Given the description of an element on the screen output the (x, y) to click on. 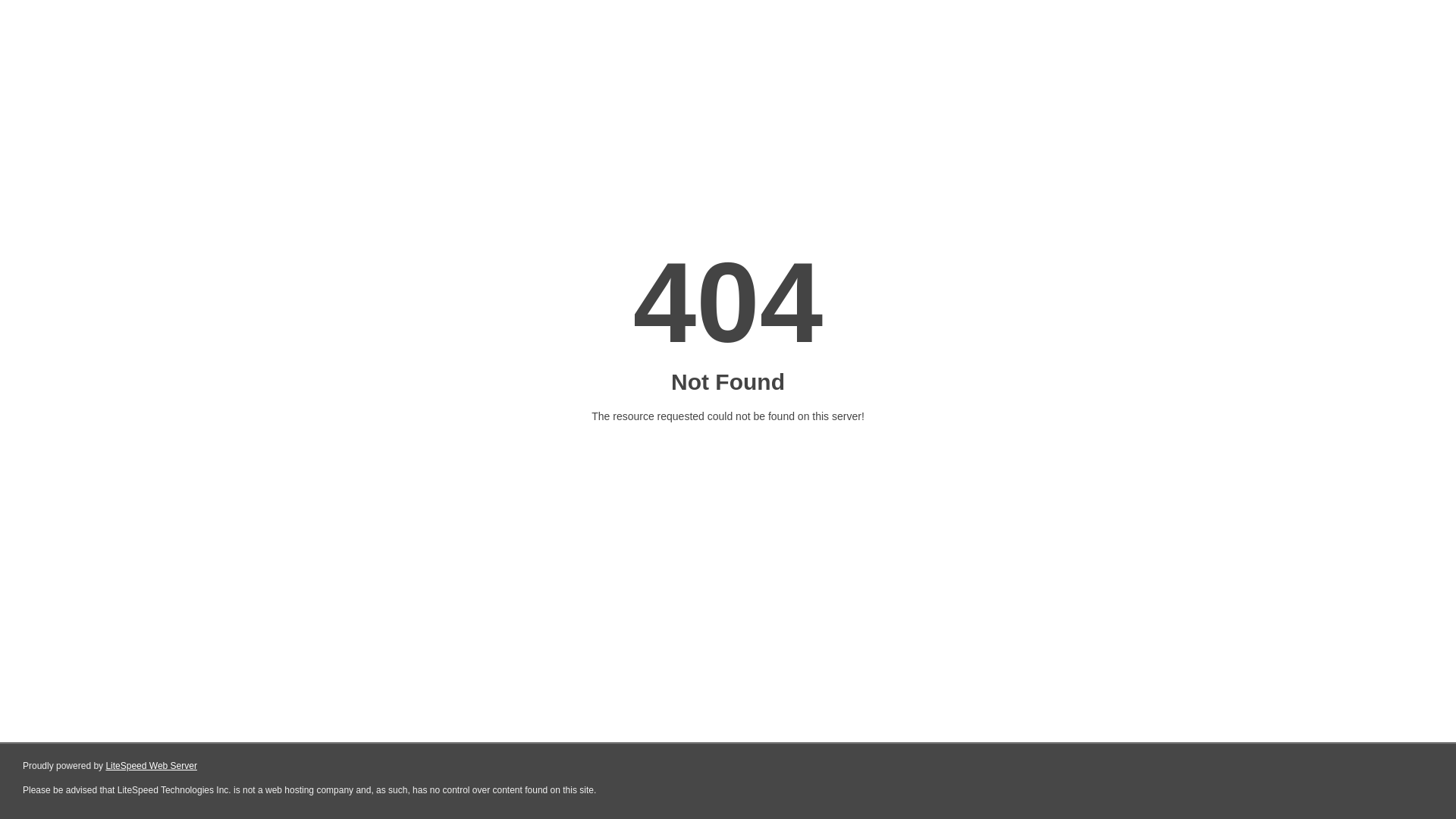
LiteSpeed Web Server Element type: text (151, 765)
